Given the description of an element on the screen output the (x, y) to click on. 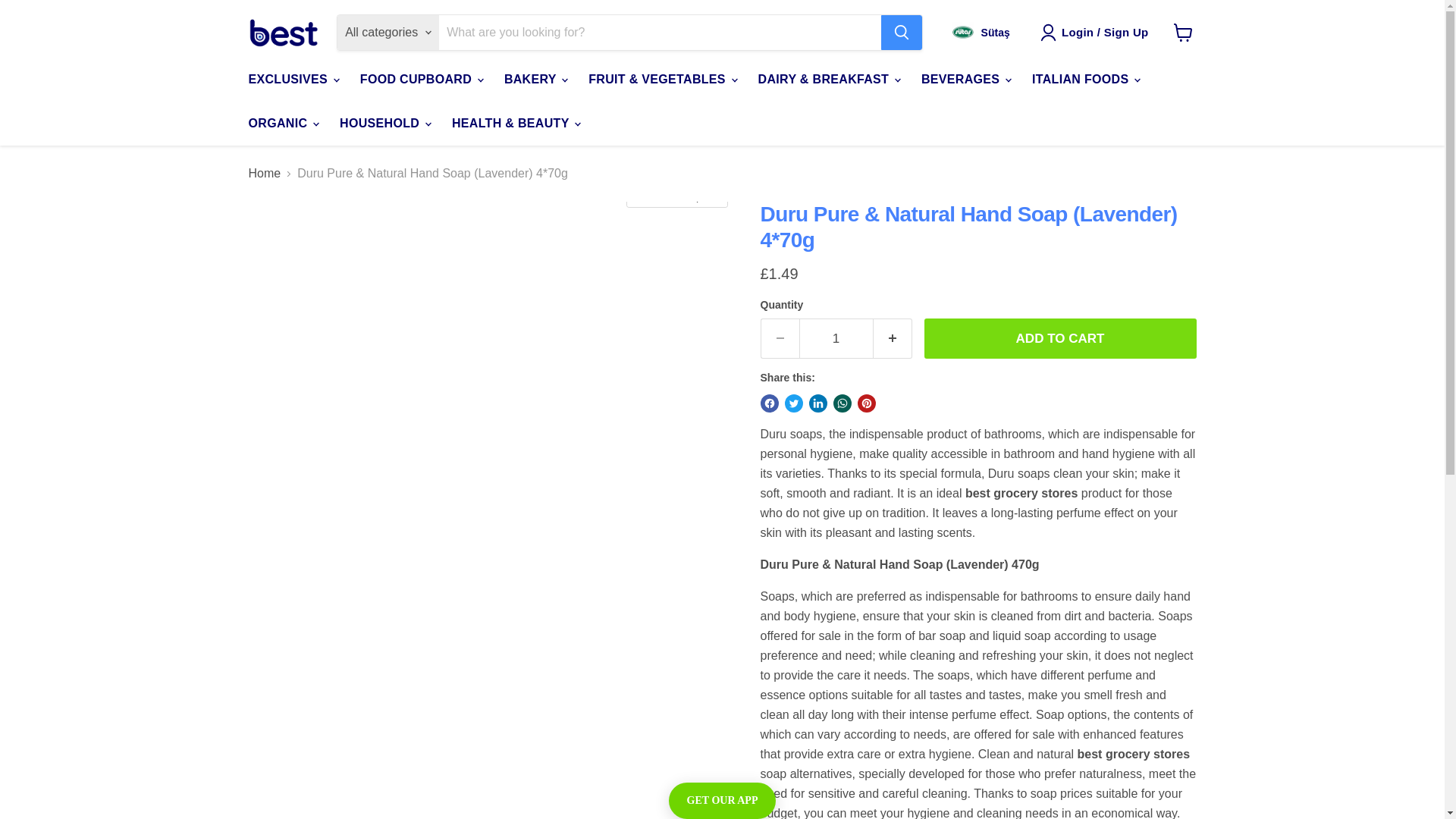
1 (836, 338)
View cart (1182, 32)
